Given the description of an element on the screen output the (x, y) to click on. 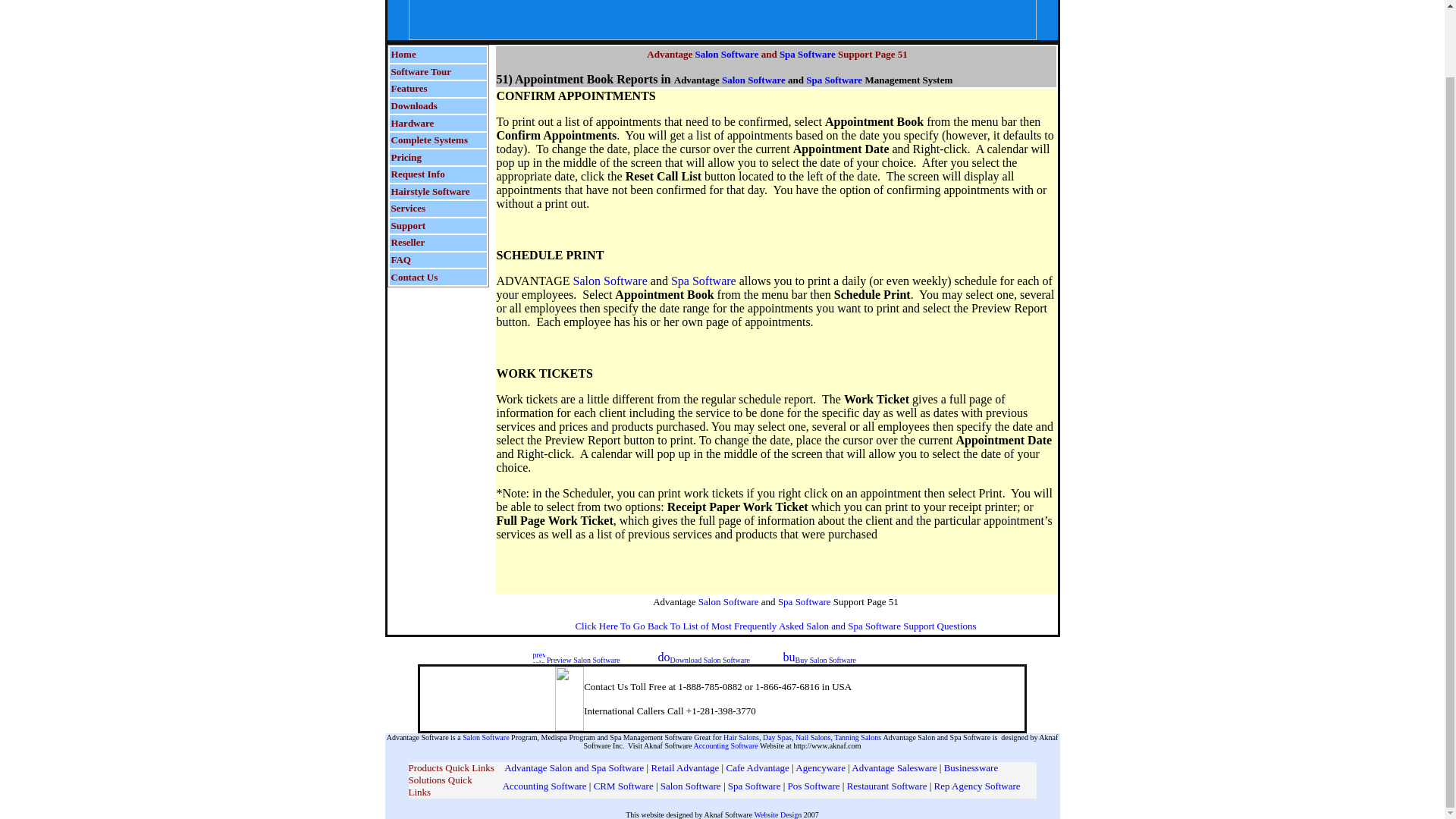
Features (409, 87)
pos software (813, 785)
Contact Us (414, 276)
Download Salon Software (710, 660)
Buy Salon Software (825, 660)
Services (408, 206)
crm software  (625, 785)
Home (403, 52)
Spa Software (804, 601)
Salon Software (610, 280)
Software Tour (421, 70)
Accounting software (544, 785)
Salon Software (485, 737)
Spa Software (703, 280)
Spa Software (806, 53)
